Given the description of an element on the screen output the (x, y) to click on. 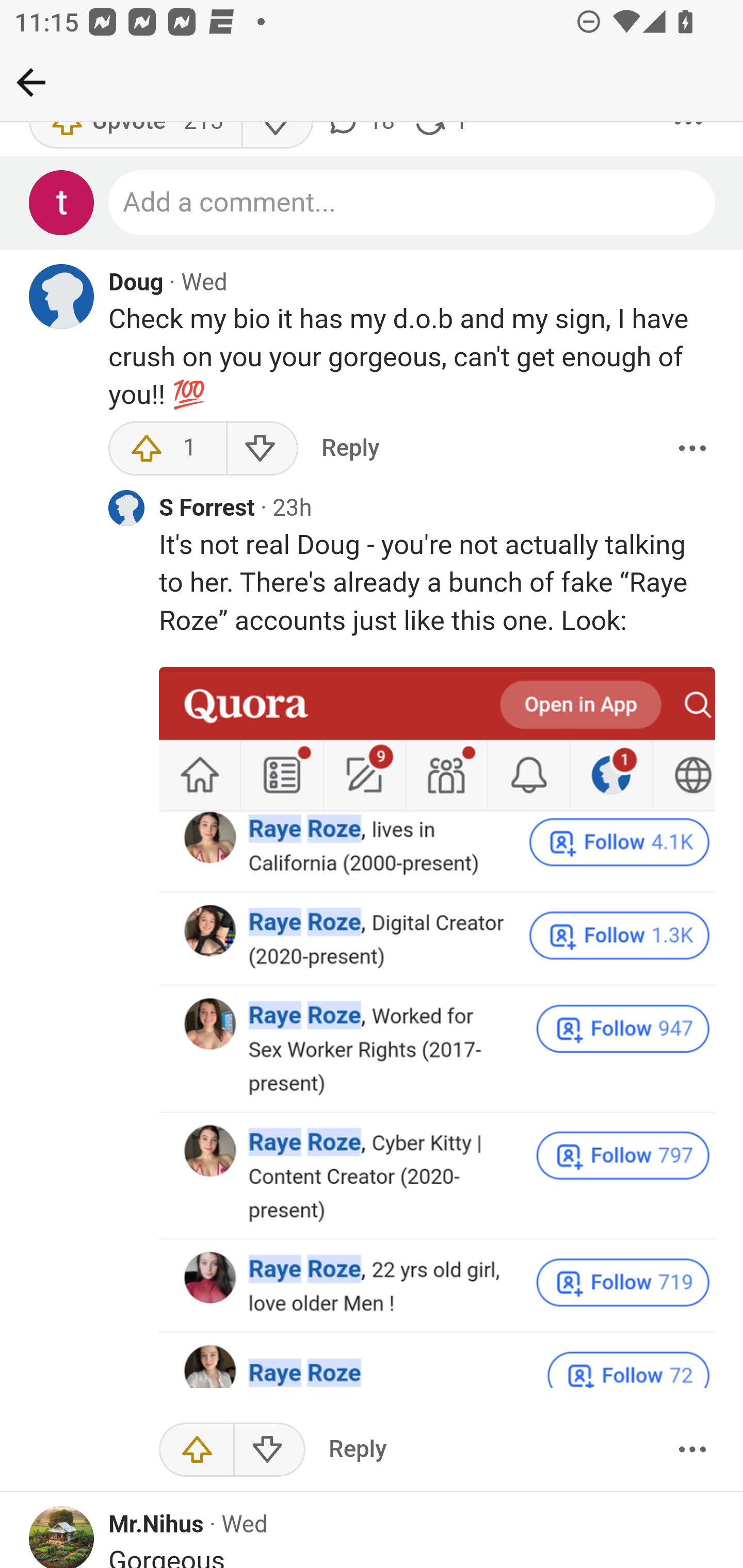
Back (30, 82)
Profile photo for Test Appium (61, 204)
Add a comment... (412, 204)
Profile photo for Doug (61, 297)
Doug (136, 284)
1 upvote (167, 448)
Downvote (261, 448)
Reply (350, 448)
More (691, 448)
Profile photo for S Forrest (126, 508)
S Forrest (207, 510)
main-qimg-0530b6167fb11ecca770947b68254faf (437, 1028)
Upvote (196, 1450)
Downvote (268, 1450)
Reply (357, 1450)
More (691, 1450)
Profile photo for Mr.Nihus (61, 1537)
Mr.Nihus (155, 1526)
